Given the description of an element on the screen output the (x, y) to click on. 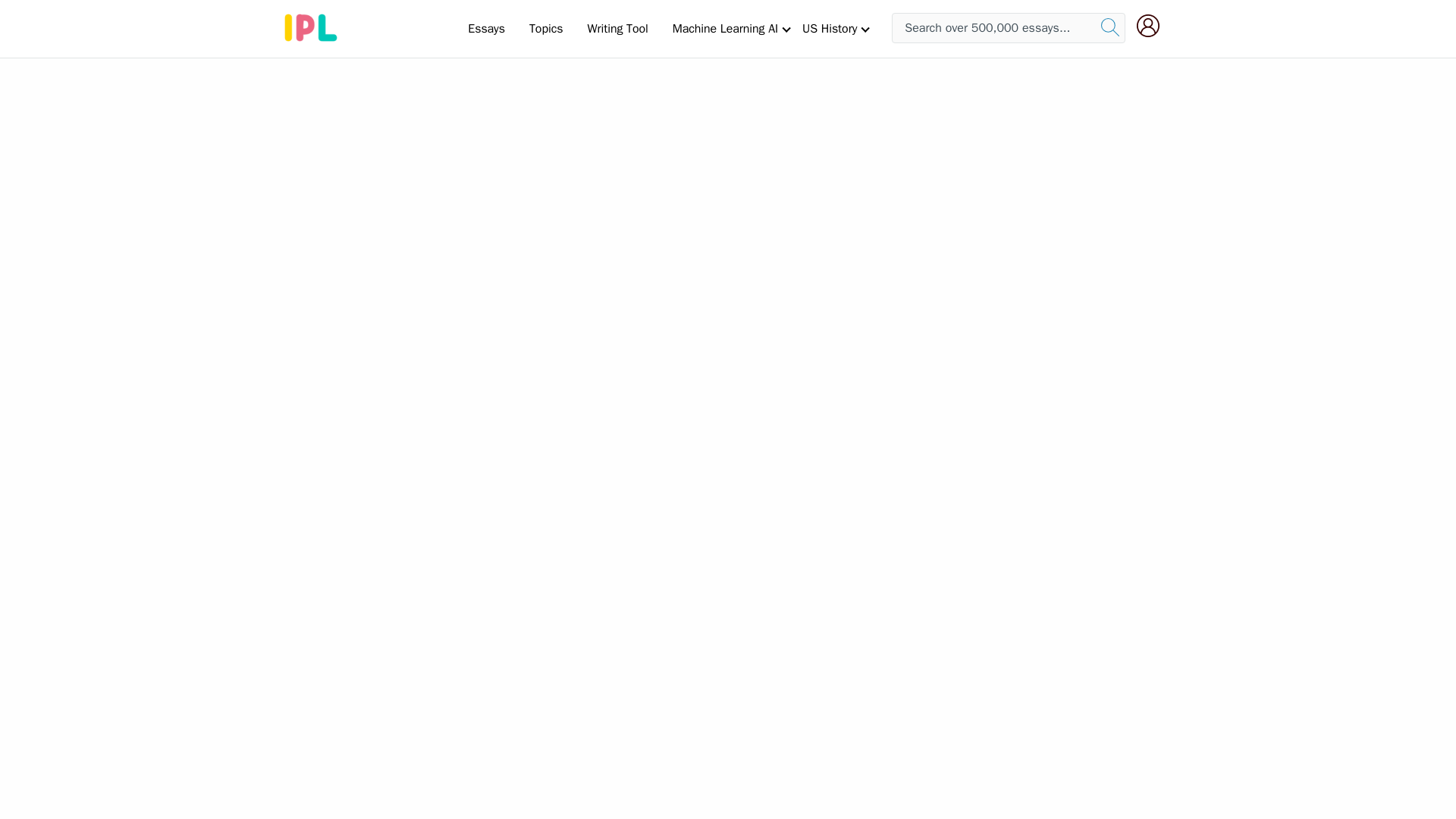
Machine Learning AI (725, 28)
US History (829, 28)
Writing Tool (617, 28)
Essays (485, 28)
Topics (545, 28)
